Given the description of an element on the screen output the (x, y) to click on. 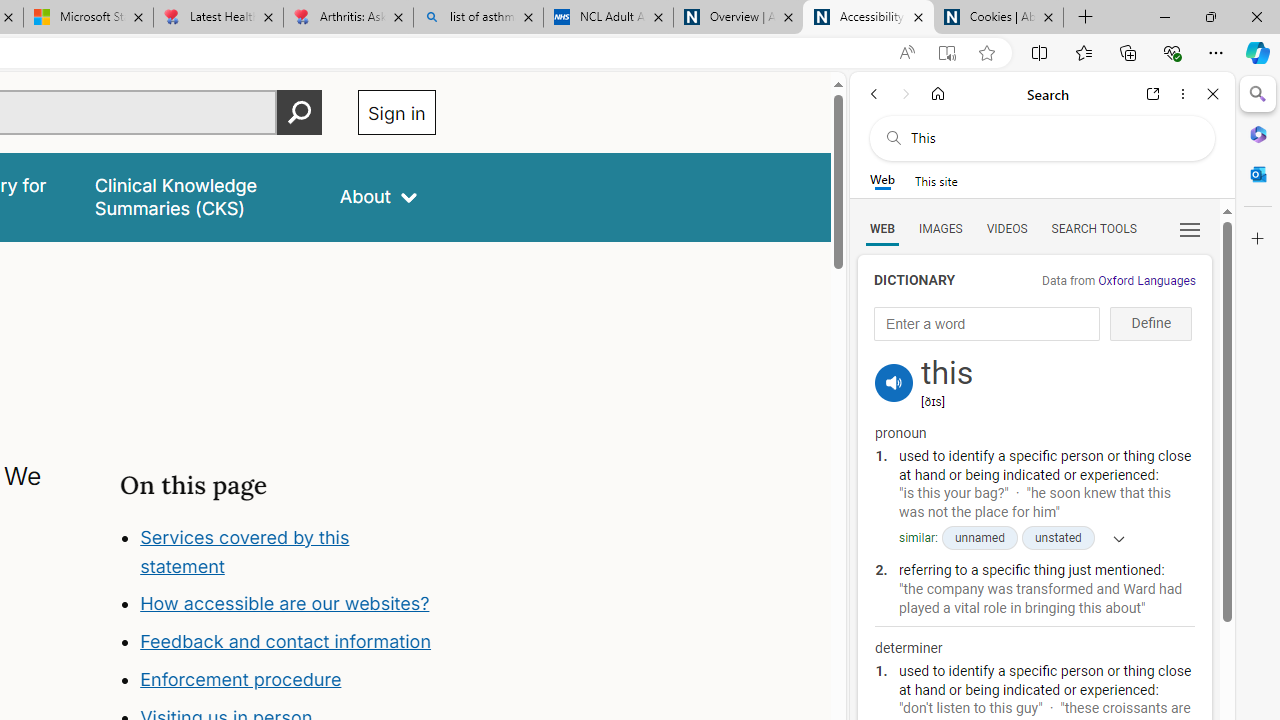
How accessible are our websites? (287, 604)
Enforcement procedure (287, 680)
Feedback and contact information (287, 642)
pronounce (893, 382)
